Given the description of an element on the screen output the (x, y) to click on. 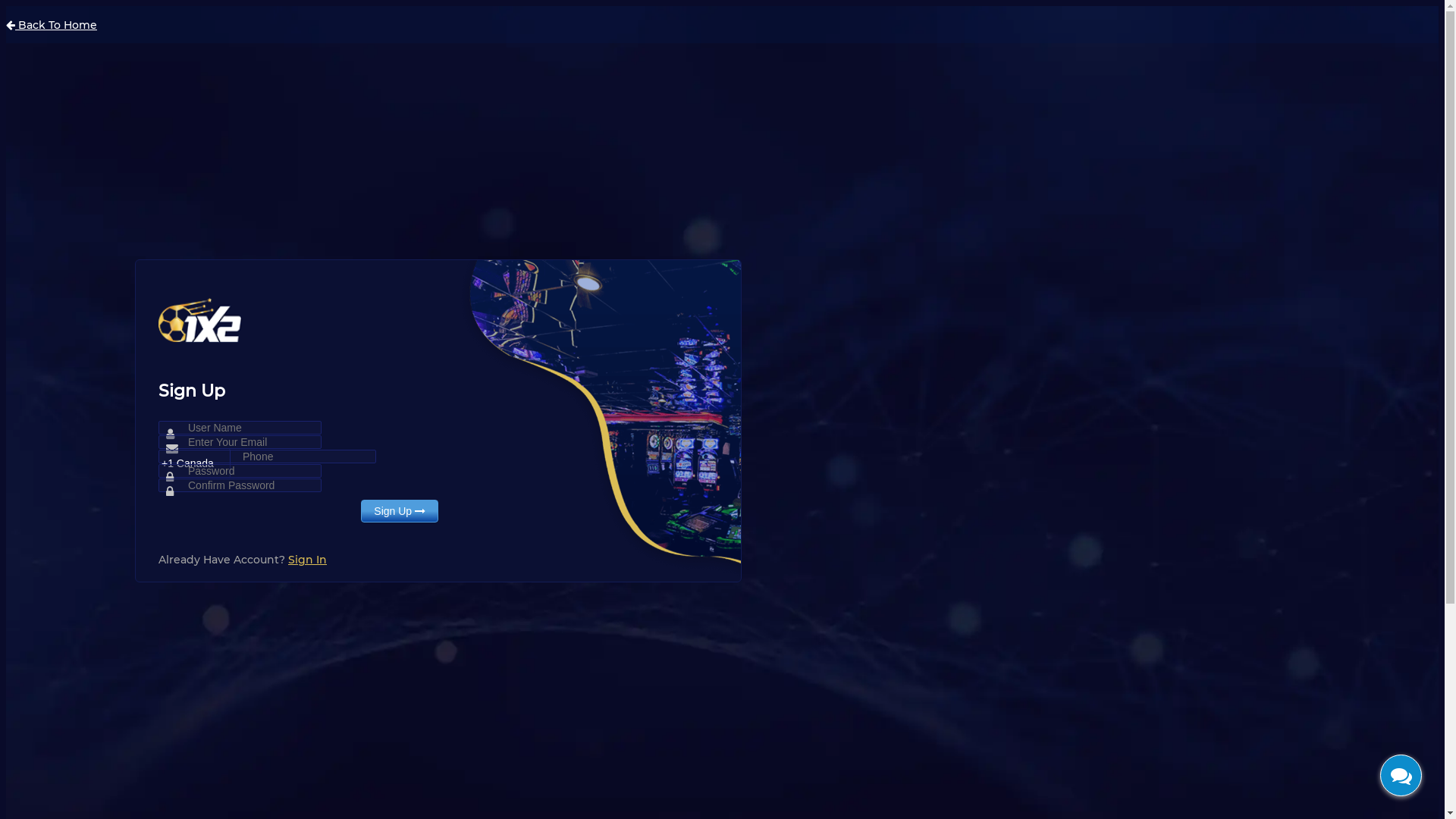
Sign In Element type: text (307, 559)
Sign Up Element type: text (399, 510)
Back To Home Element type: text (51, 24)
